Given the description of an element on the screen output the (x, y) to click on. 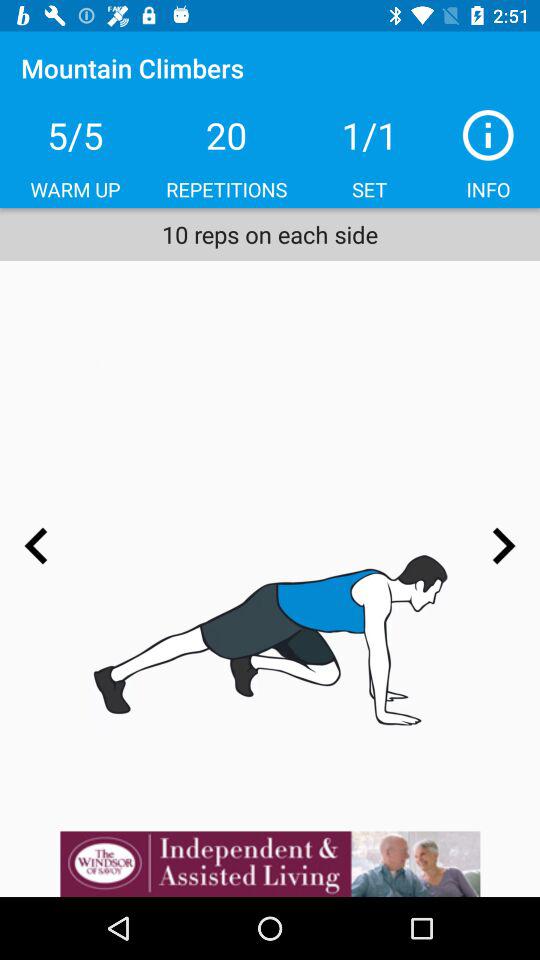
go forward (503, 545)
